Given the description of an element on the screen output the (x, y) to click on. 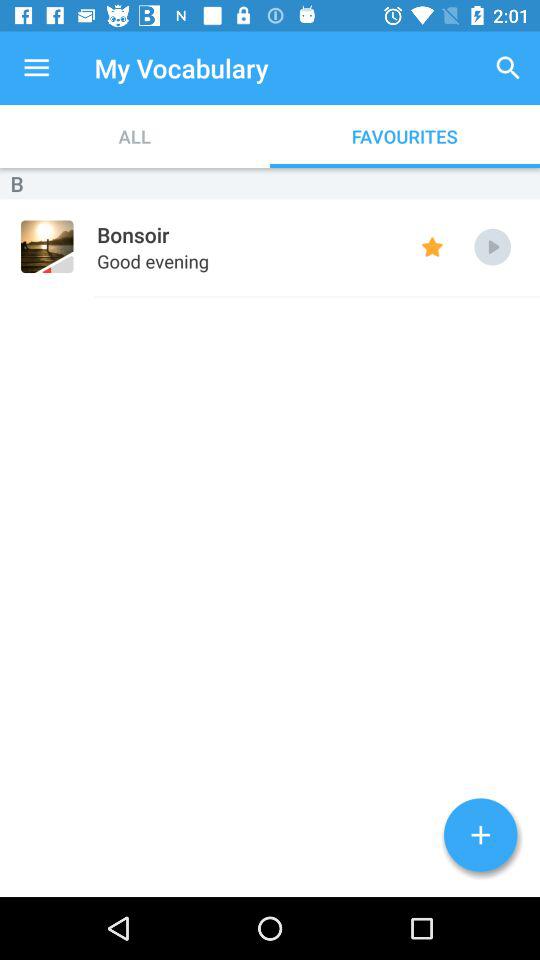
go to rating (432, 246)
